Given the description of an element on the screen output the (x, y) to click on. 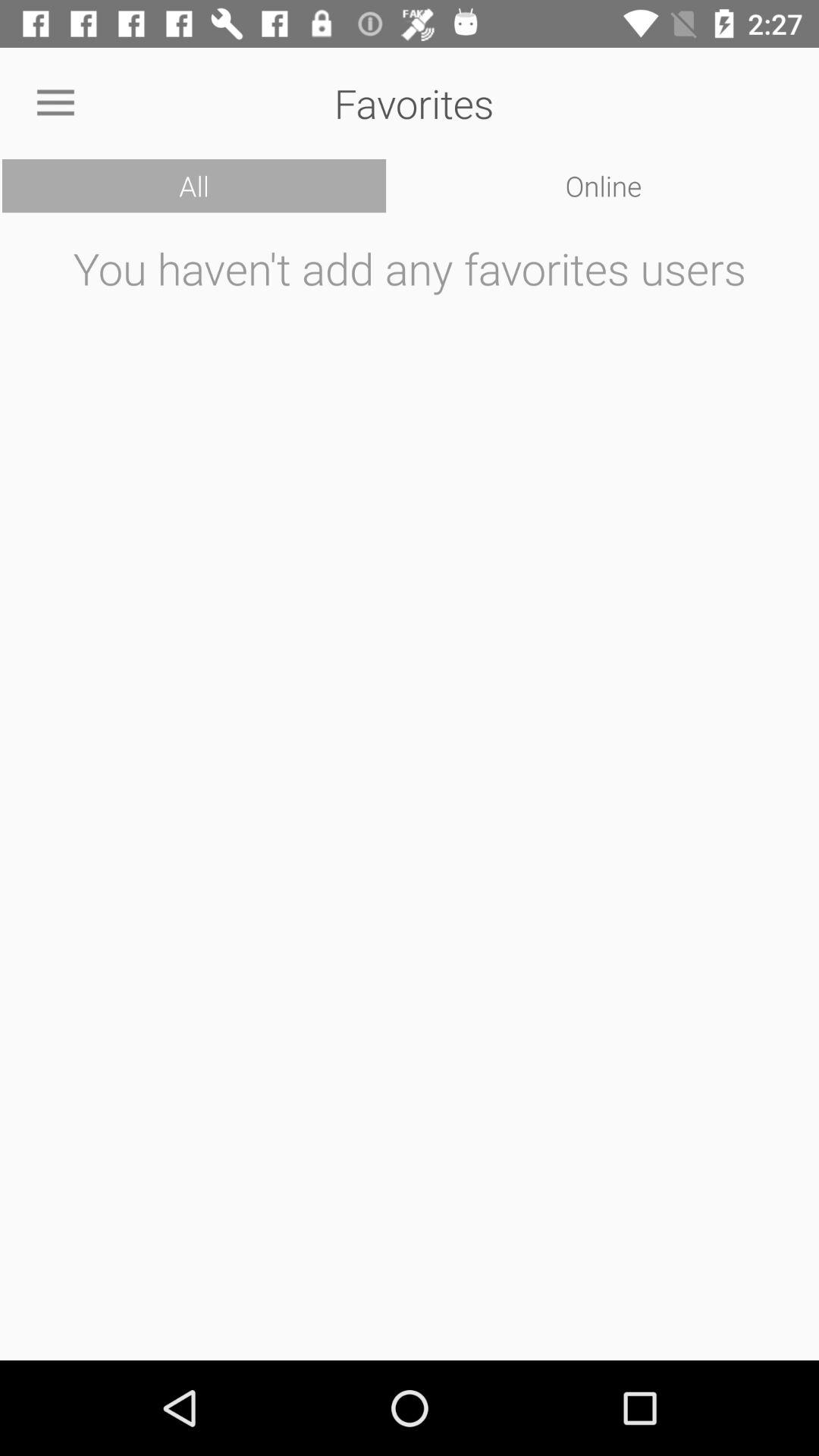
turn off the item next to favorites item (55, 103)
